Given the description of an element on the screen output the (x, y) to click on. 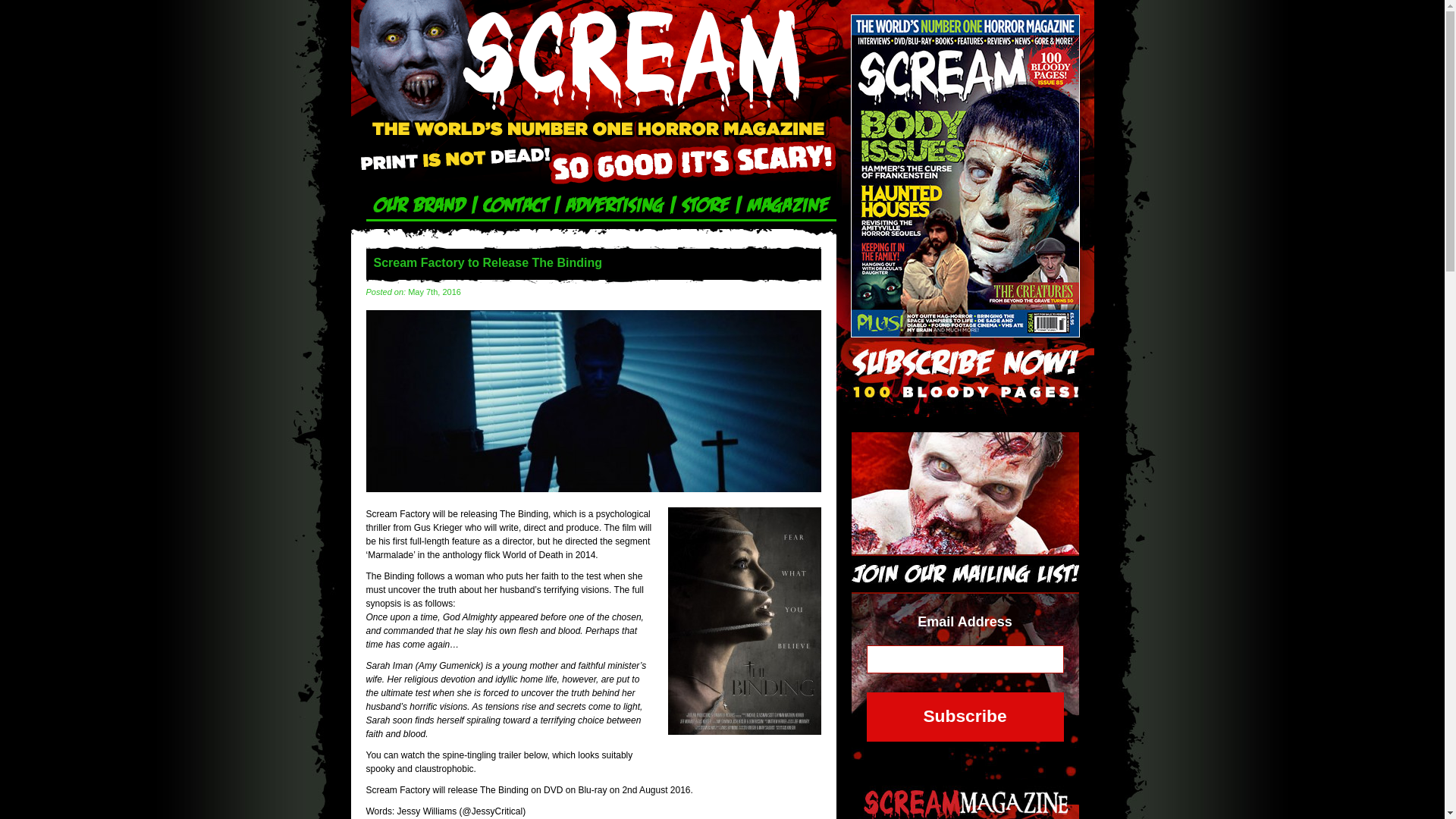
Scream Factory to Release The Binding (593, 489)
Subscribe (964, 717)
Subscribe (964, 717)
